Given the description of an element on the screen output the (x, y) to click on. 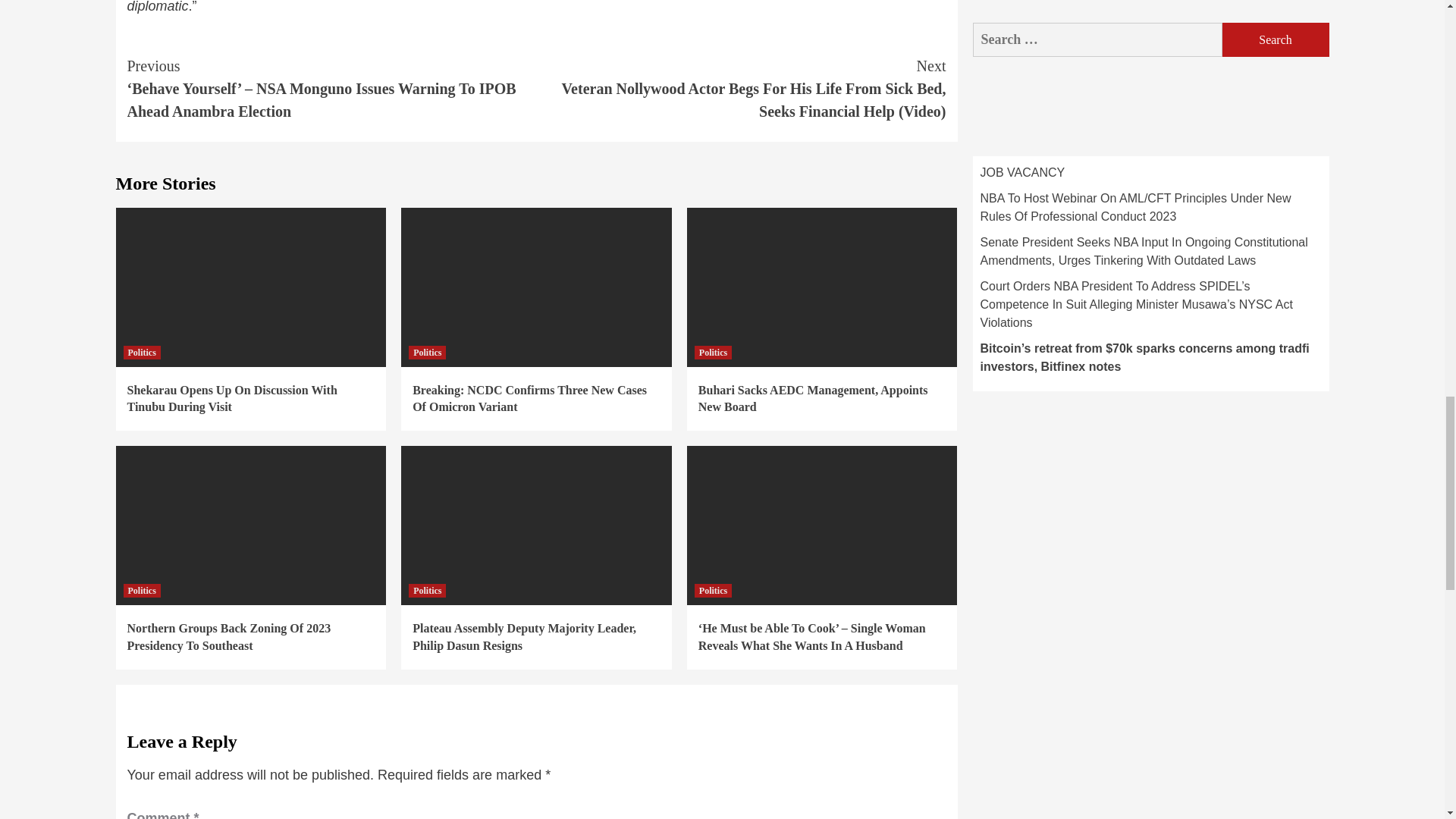
Politics (713, 352)
Politics (427, 352)
Breaking: NCDC Confirms Three New Cases Of Omicron Variant (529, 398)
Buhari Sacks AEDC Management, Appoints New Board (813, 398)
Politics (141, 352)
Shekarau Opens Up On Discussion With Tinubu During Visit (232, 398)
